Given the description of an element on the screen output the (x, y) to click on. 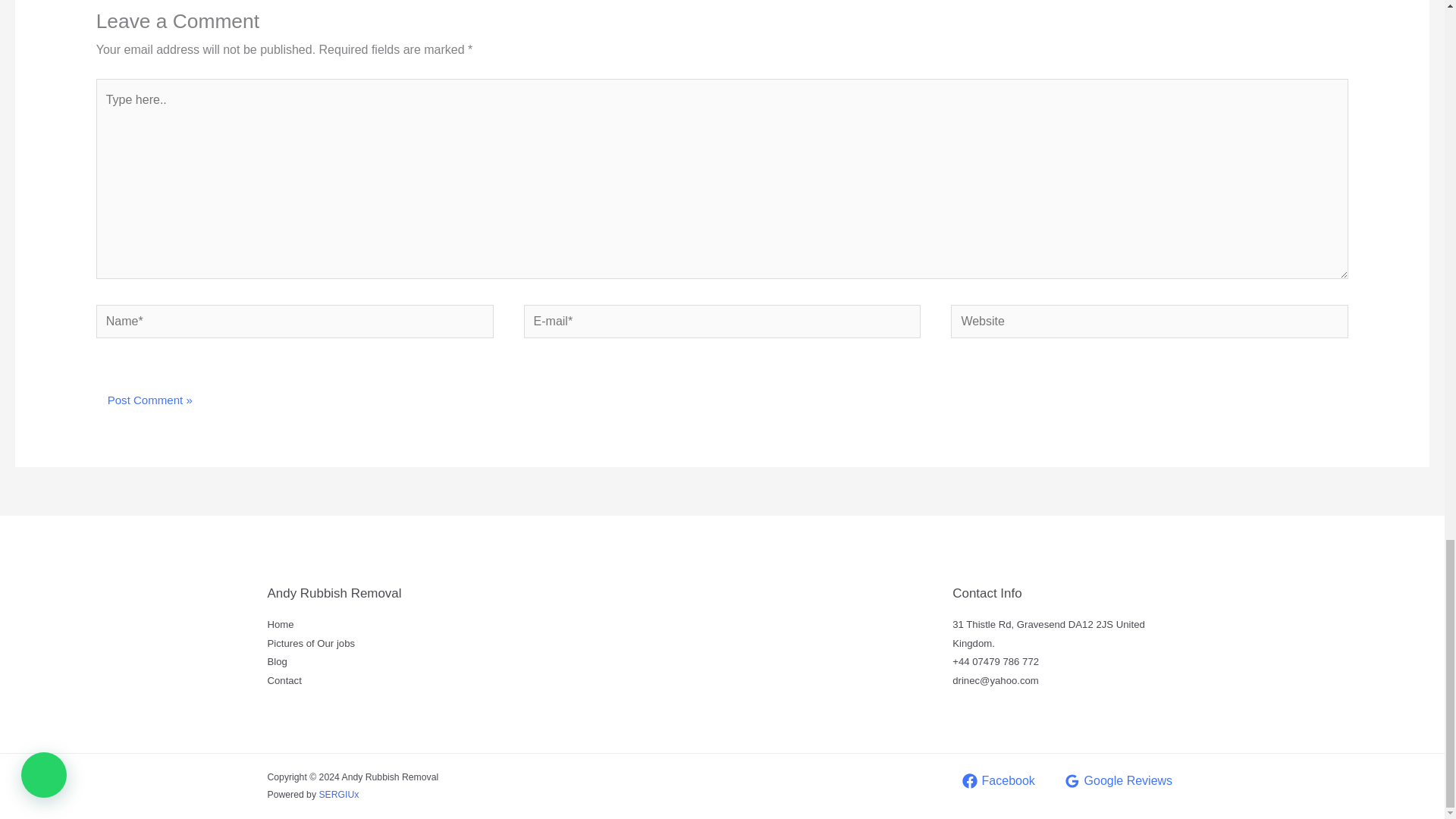
Facebook (997, 780)
Pictures of Our jobs (310, 643)
SERGIUx (338, 794)
Blog (276, 661)
Home (280, 624)
Google Reviews (1117, 780)
Contact (283, 680)
